Given the description of an element on the screen output the (x, y) to click on. 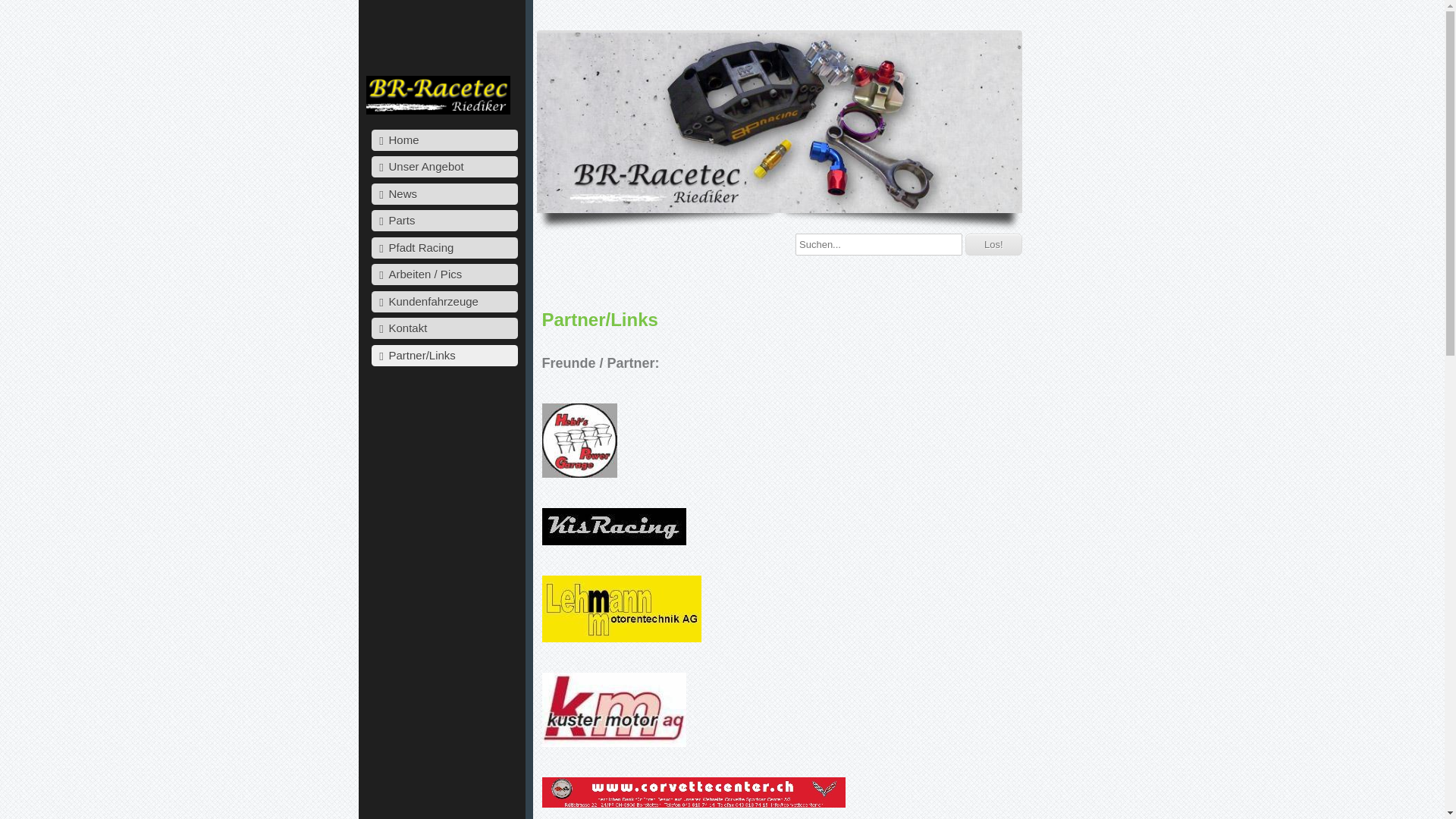
News Element type: text (444, 193)
Pfadt Racing Element type: text (444, 247)
Unser Angebot Element type: text (444, 166)
Kundenfahrzeuge Element type: text (444, 301)
Los! Element type: text (993, 244)
Kontakt Element type: text (444, 327)
Partner/Links Element type: text (444, 355)
Home Element type: text (444, 139)
Arbeiten / Pics Element type: text (444, 274)
Parts Element type: text (444, 220)
